Given the description of an element on the screen output the (x, y) to click on. 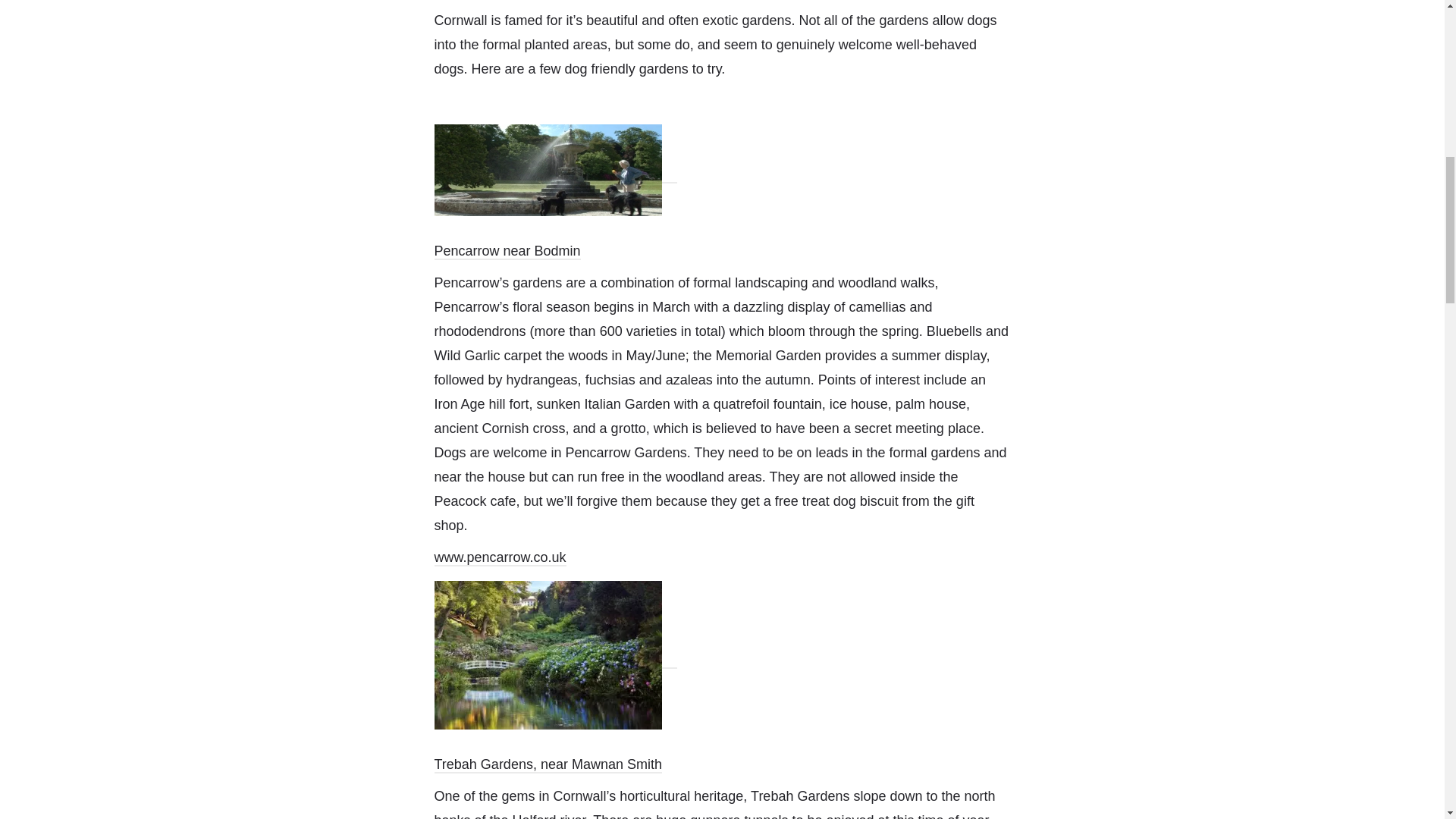
Trebah Gardens, near Mawnan Smith (547, 764)
www.pencarrow.co.uk (499, 557)
Pencarrow near Bodmin (506, 251)
